Given the description of an element on the screen output the (x, y) to click on. 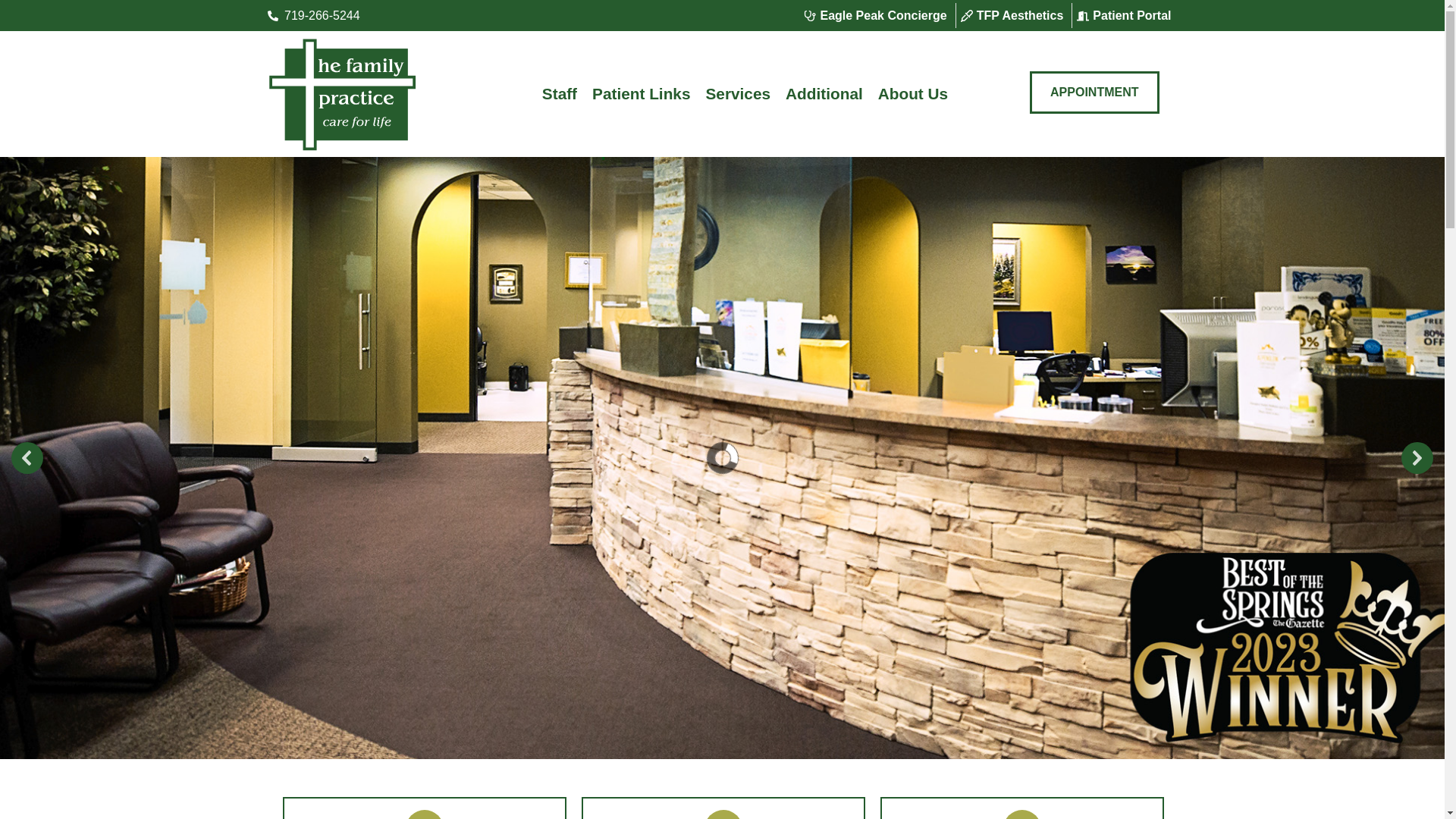
Home Test (26, 457)
Services (737, 93)
About Us (912, 93)
Patient Links (641, 93)
Home Test (1417, 457)
Additional (823, 93)
719-266-5244 (366, 15)
